Given the description of an element on the screen output the (x, y) to click on. 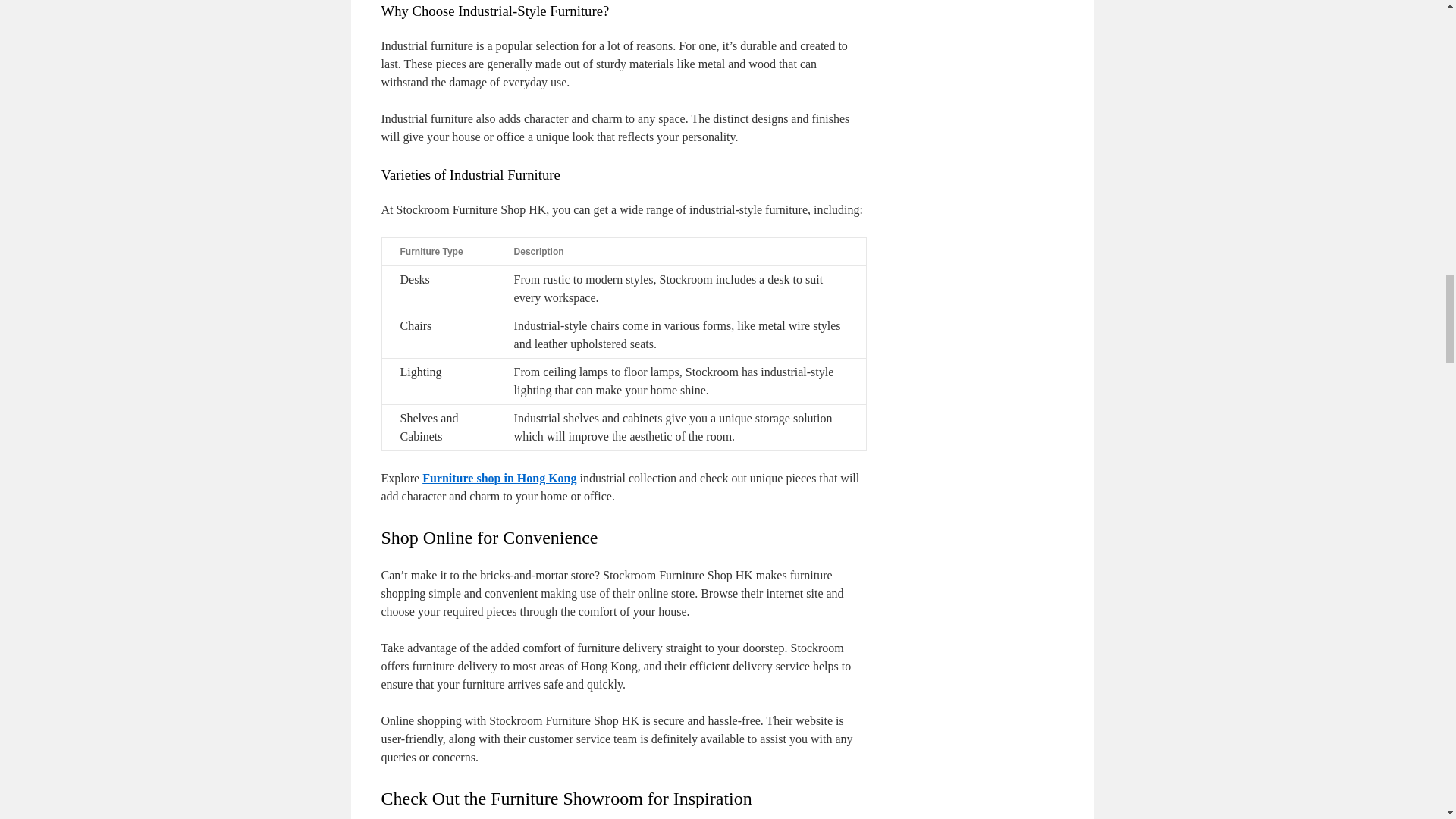
Furniture shop in Hong Kong (499, 477)
